Given the description of an element on the screen output the (x, y) to click on. 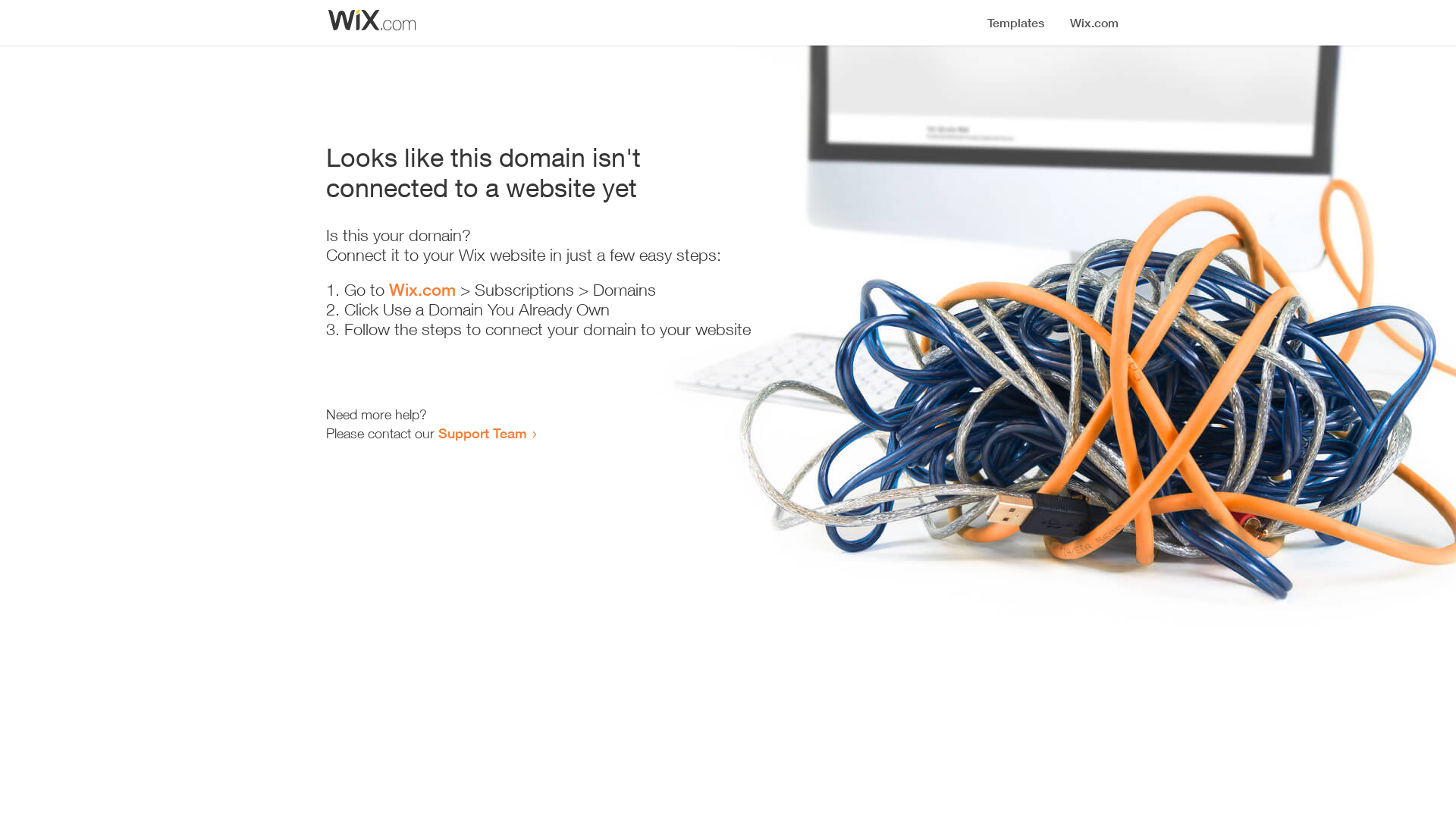
Wix.com Element type: text (422, 289)
Support Team Element type: text (482, 432)
